Given the description of an element on the screen output the (x, y) to click on. 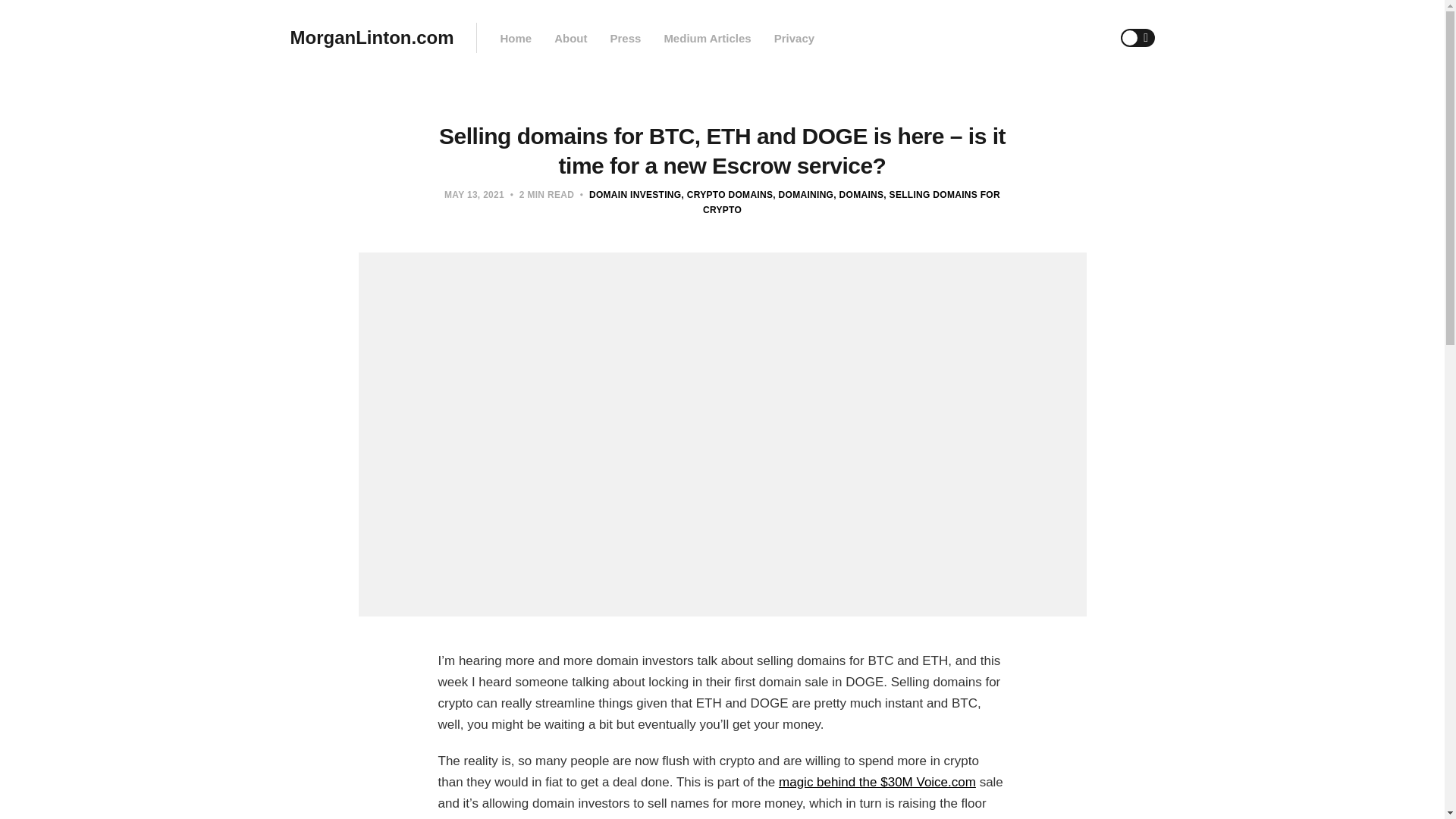
Medium Articles (707, 38)
DOMAINS (857, 194)
SELLING DOMAINS FOR CRYPTO (851, 202)
Domain Investing (635, 194)
selling domains for crypto (851, 202)
DOMAINING (802, 194)
Press (625, 38)
MorganLinton.com (370, 37)
About (570, 38)
Privacy (793, 38)
